Given the description of an element on the screen output the (x, y) to click on. 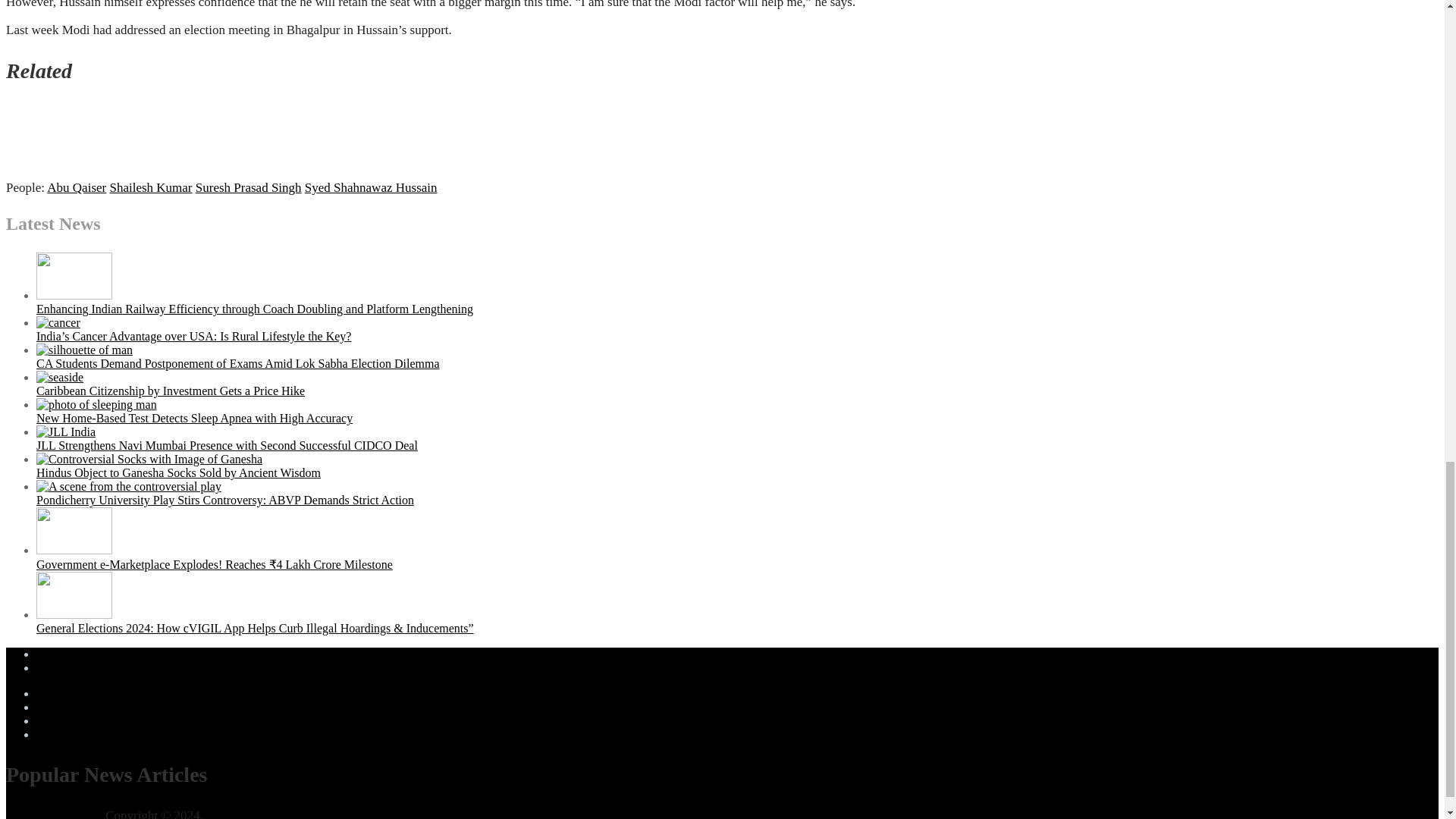
Caribbean Citizenship by Investment Gets a Price Hike (59, 377)
Suresh Prasad Singh (248, 187)
Abu Qaiser (76, 187)
Caribbean Citizenship by Investment Gets a Price Hike (170, 390)
Syed Shahnawaz Hussain (371, 187)
Shailesh Kumar (150, 187)
